Given the description of an element on the screen output the (x, y) to click on. 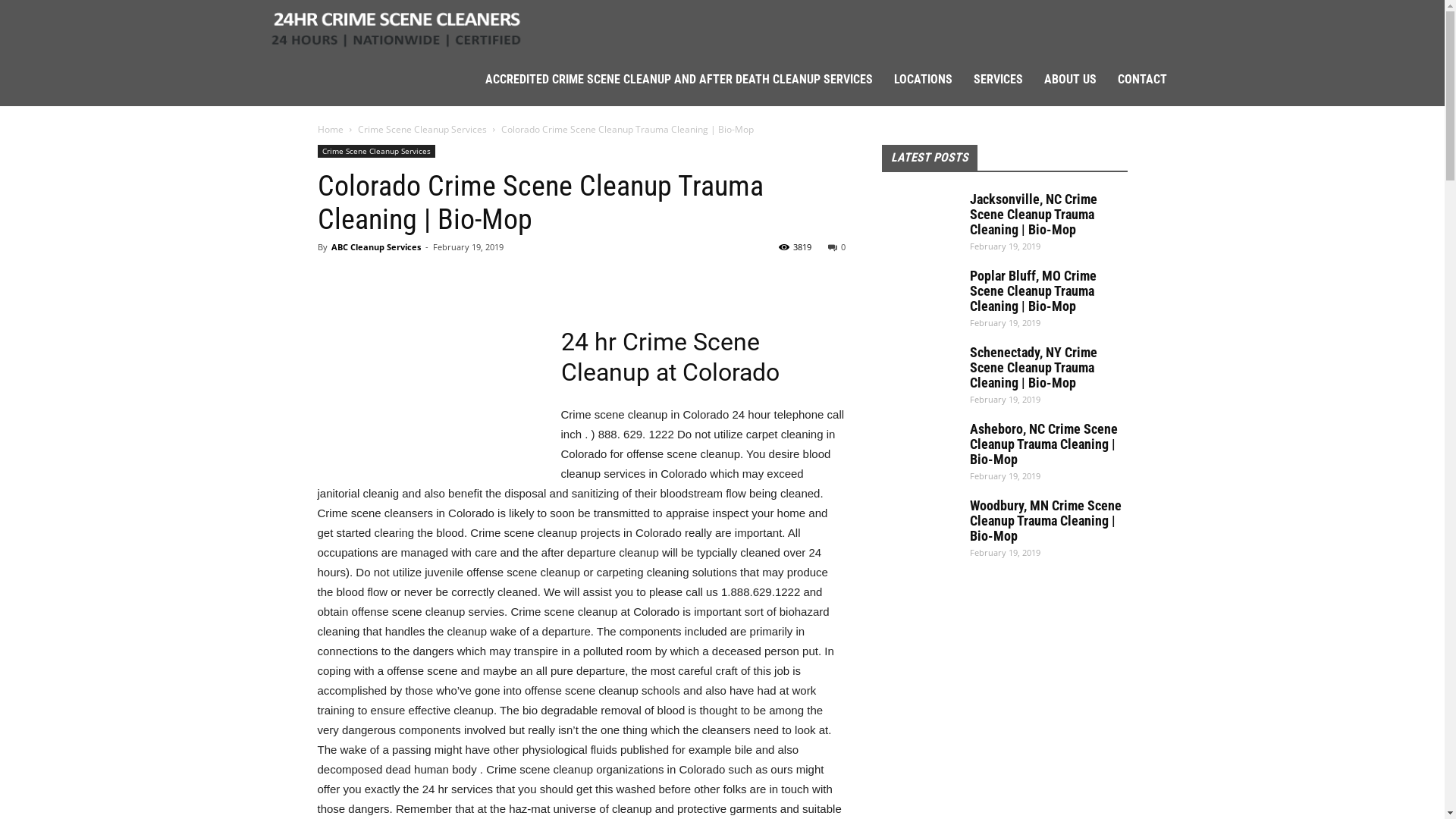
Crime Scene Cleanup Services Element type: text (375, 150)
Asheboro, NC Crime Scene Cleanup Trauma Cleaning | Bio-Mop Element type: hover (919, 447)
ABOUT US Element type: text (1069, 79)
Woodbury, MN Crime Scene Cleanup Trauma Cleaning | Bio-Mop Element type: text (1044, 520)
0 Element type: text (836, 246)
SERVICES Element type: text (998, 79)
CONTACT Element type: text (1142, 79)
ABC Cleanup Services Element type: text (375, 246)
Asheboro, NC Crime Scene Cleanup Trauma Cleaning | Bio-Mop Element type: text (1043, 443)
Crime Scene Cleanup Services Element type: text (421, 128)
Woodbury, MN Crime Scene Cleanup Trauma Cleaning | Bio-Mop Element type: hover (919, 524)
LOCATIONS Element type: text (922, 79)
Home Element type: text (329, 128)
Crime Scene Cleanup Services Element type: text (395, 25)
